Given the description of an element on the screen output the (x, y) to click on. 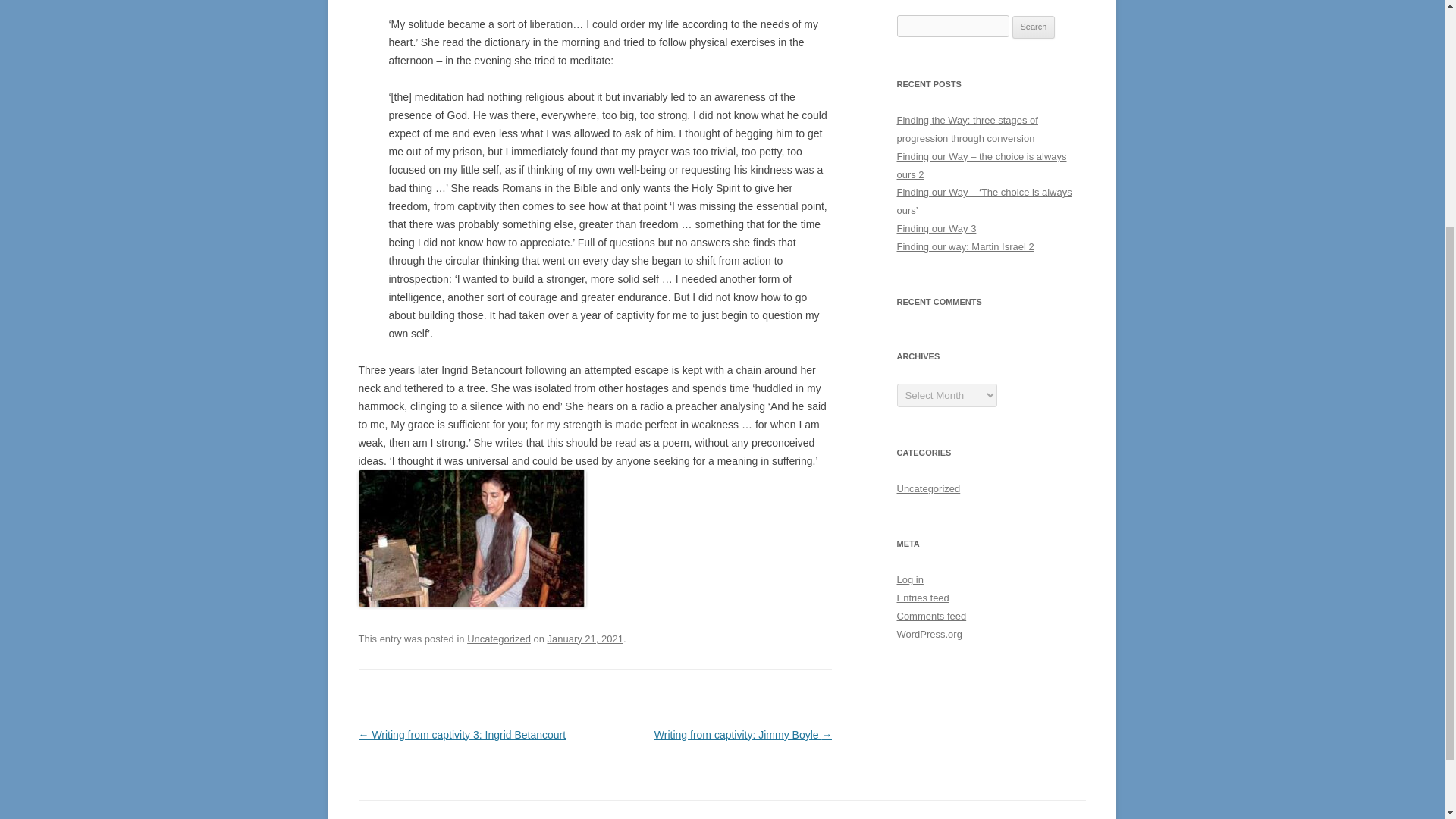
Finding our way: Martin Israel 2 (964, 246)
Search (1033, 26)
WordPress.org (928, 633)
Search (1033, 26)
Uncategorized (927, 488)
Uncategorized (499, 638)
9:38 am (585, 638)
Entries feed (922, 597)
Log in (909, 579)
